Given the description of an element on the screen output the (x, y) to click on. 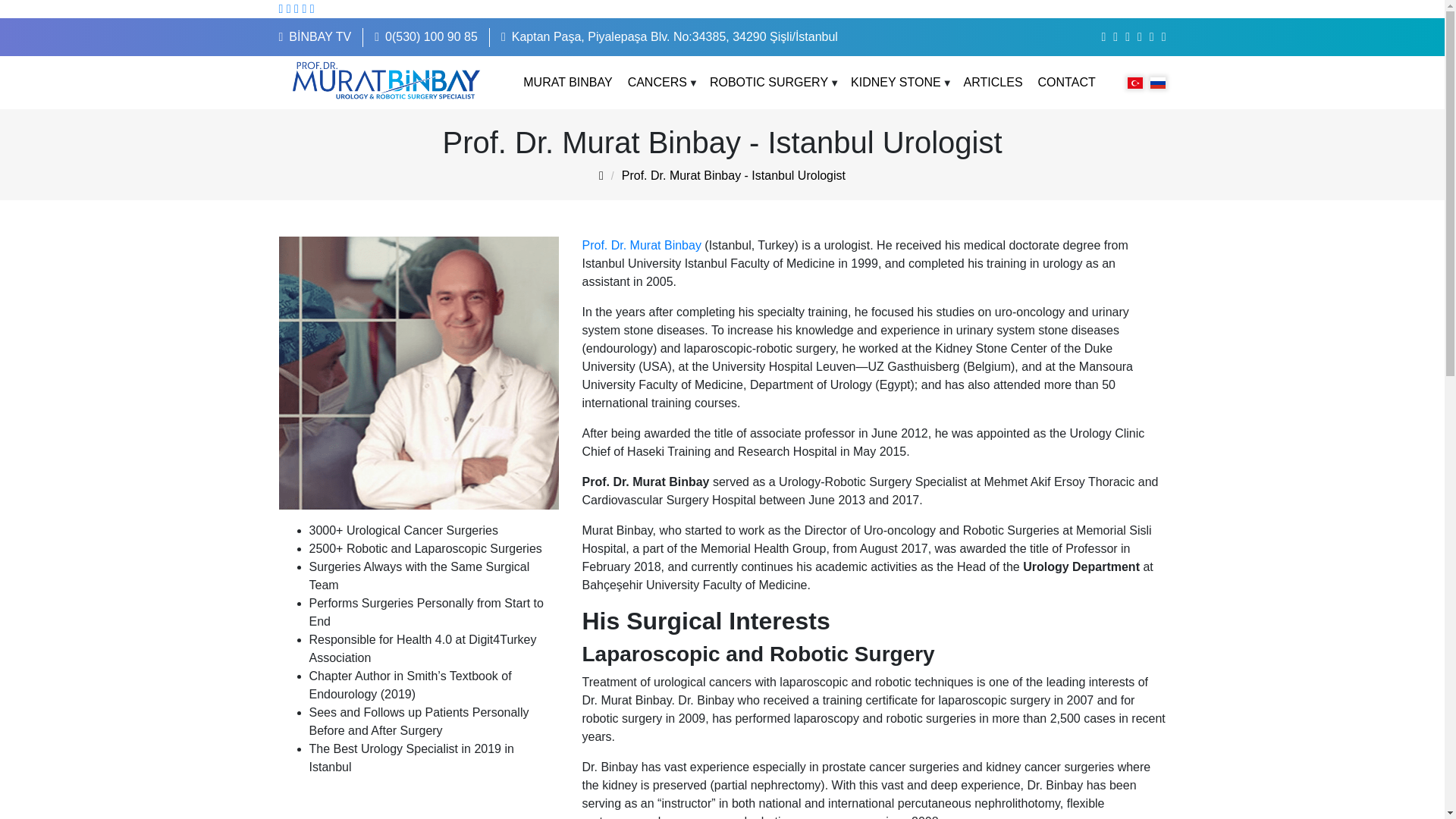
MURAT BINBAY (566, 82)
KIDNEY STONE (895, 82)
CANCERS (657, 82)
ROBOTIC SURGERY (769, 82)
CONTACT (1067, 82)
ARTICLES (993, 82)
